Given the description of an element on the screen output the (x, y) to click on. 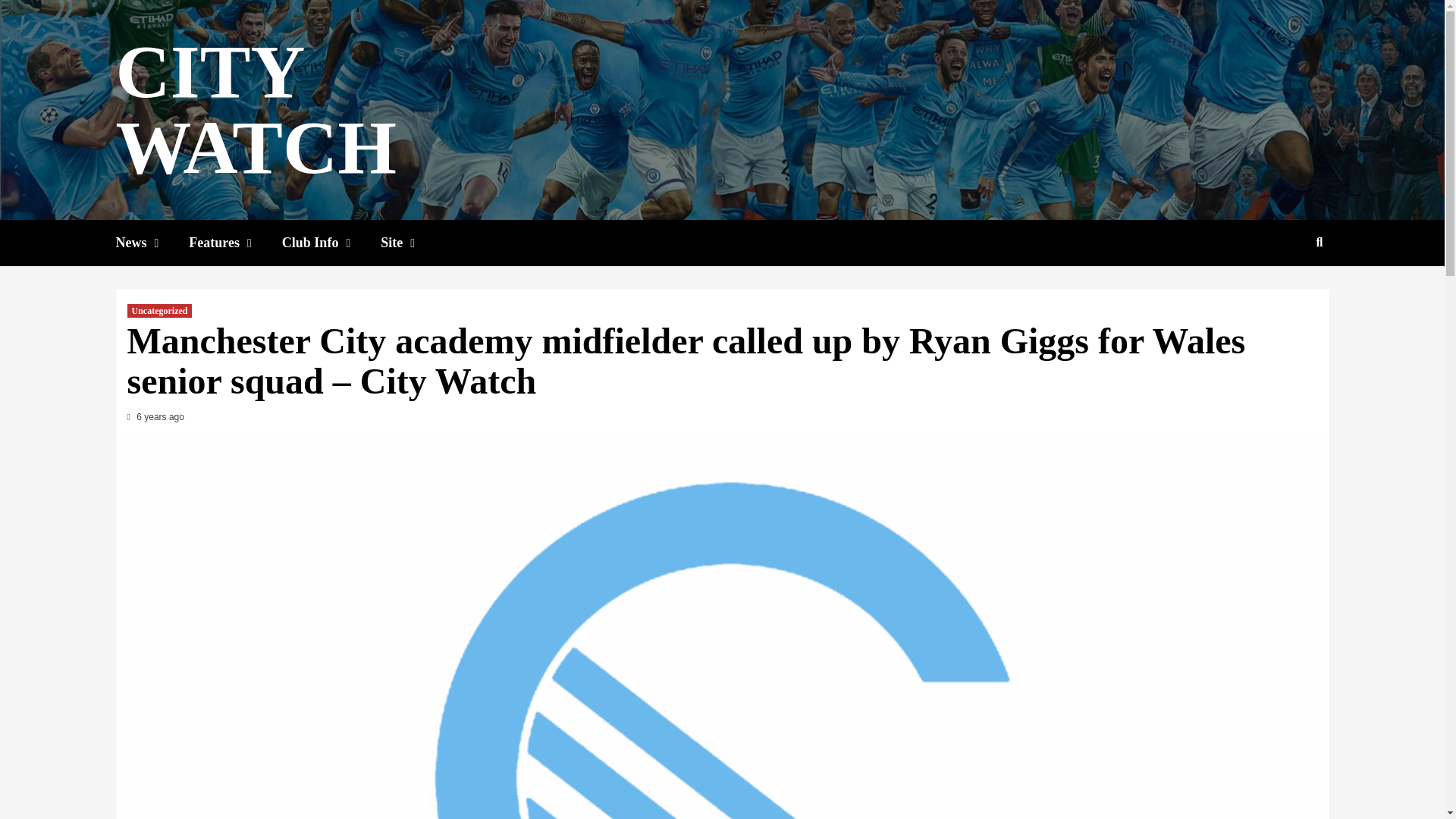
Features (235, 243)
News (152, 243)
Search (1319, 242)
Club Info (331, 243)
6 years ago (160, 416)
Uncategorized (160, 310)
Search (1283, 291)
CITY WATCH (255, 109)
Site (412, 243)
